Given the description of an element on the screen output the (x, y) to click on. 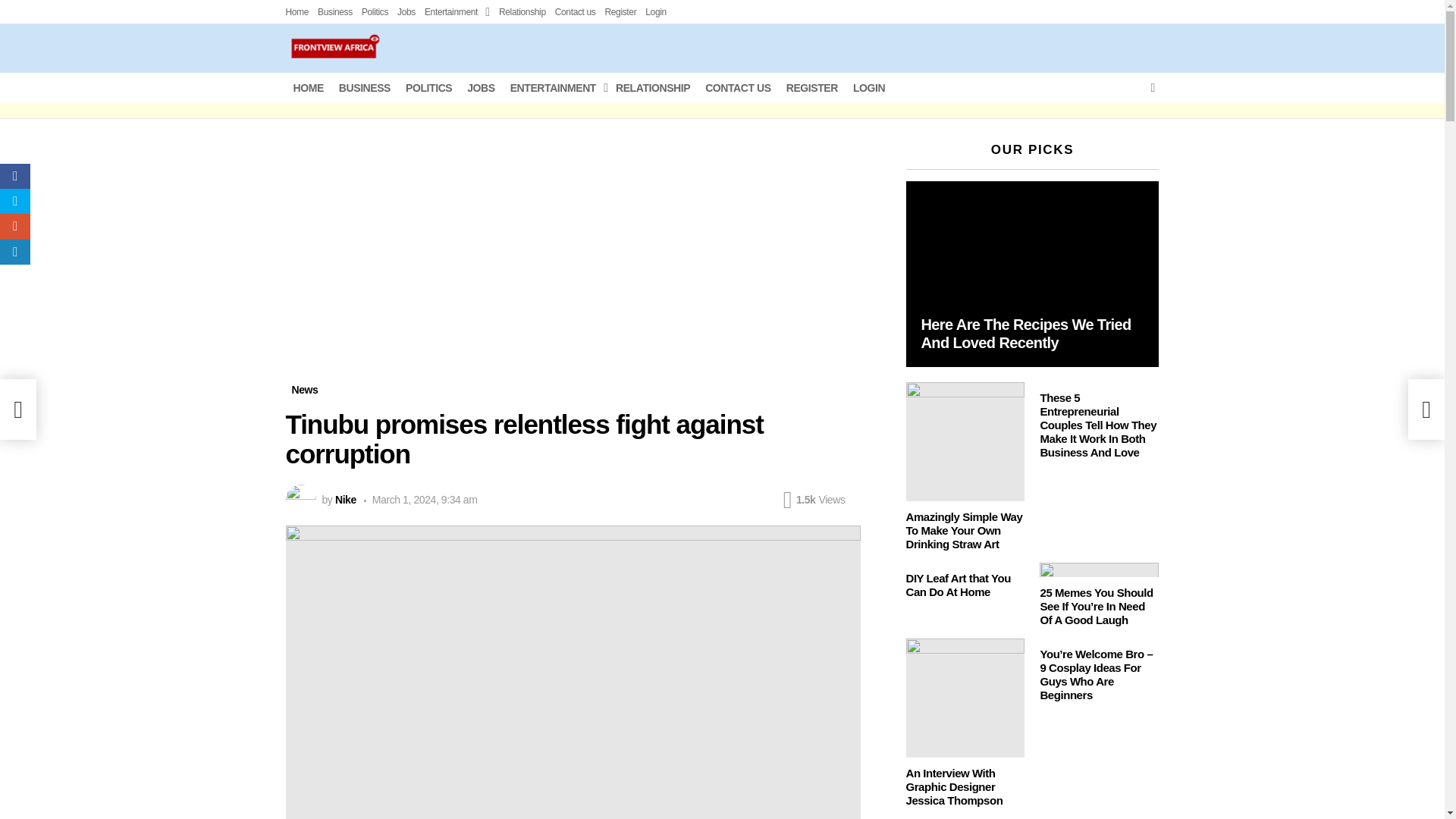
HOME (307, 87)
Relationship (522, 12)
Register (620, 12)
News (304, 389)
Nike (345, 499)
Posts by Nike (345, 499)
Business (334, 12)
CONTACT US (737, 87)
Login (655, 12)
Entertainment (457, 12)
Jobs (405, 12)
SEARCH (1152, 87)
RELATIONSHIP (652, 87)
REGISTER (811, 87)
Politics (374, 12)
